Given the description of an element on the screen output the (x, y) to click on. 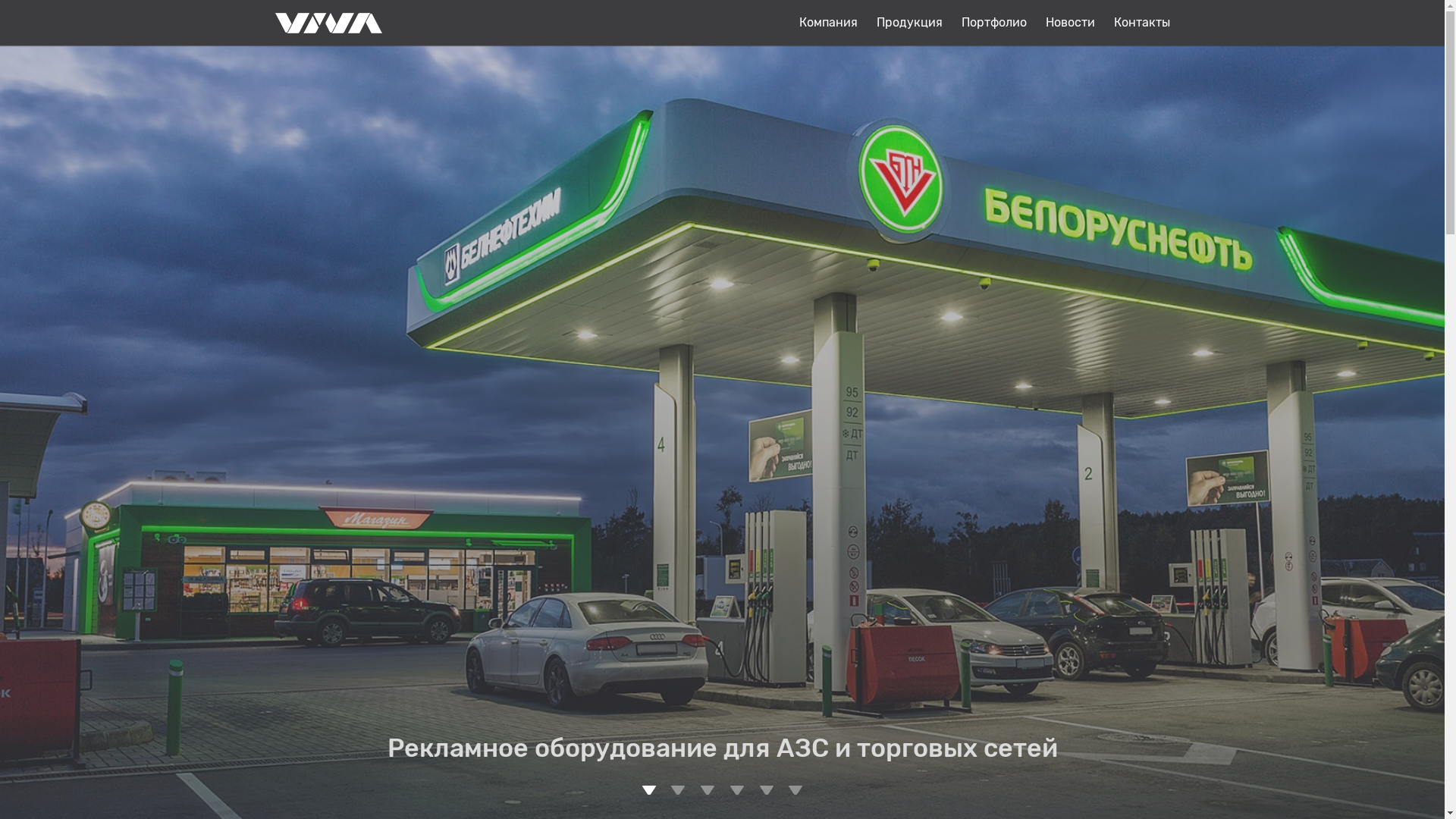
2 Element type: text (677, 789)
1 Element type: text (648, 789)
5 Element type: text (766, 789)
4 Element type: text (736, 789)
3 Element type: text (707, 789)
6 Element type: text (795, 789)
